Given the description of an element on the screen output the (x, y) to click on. 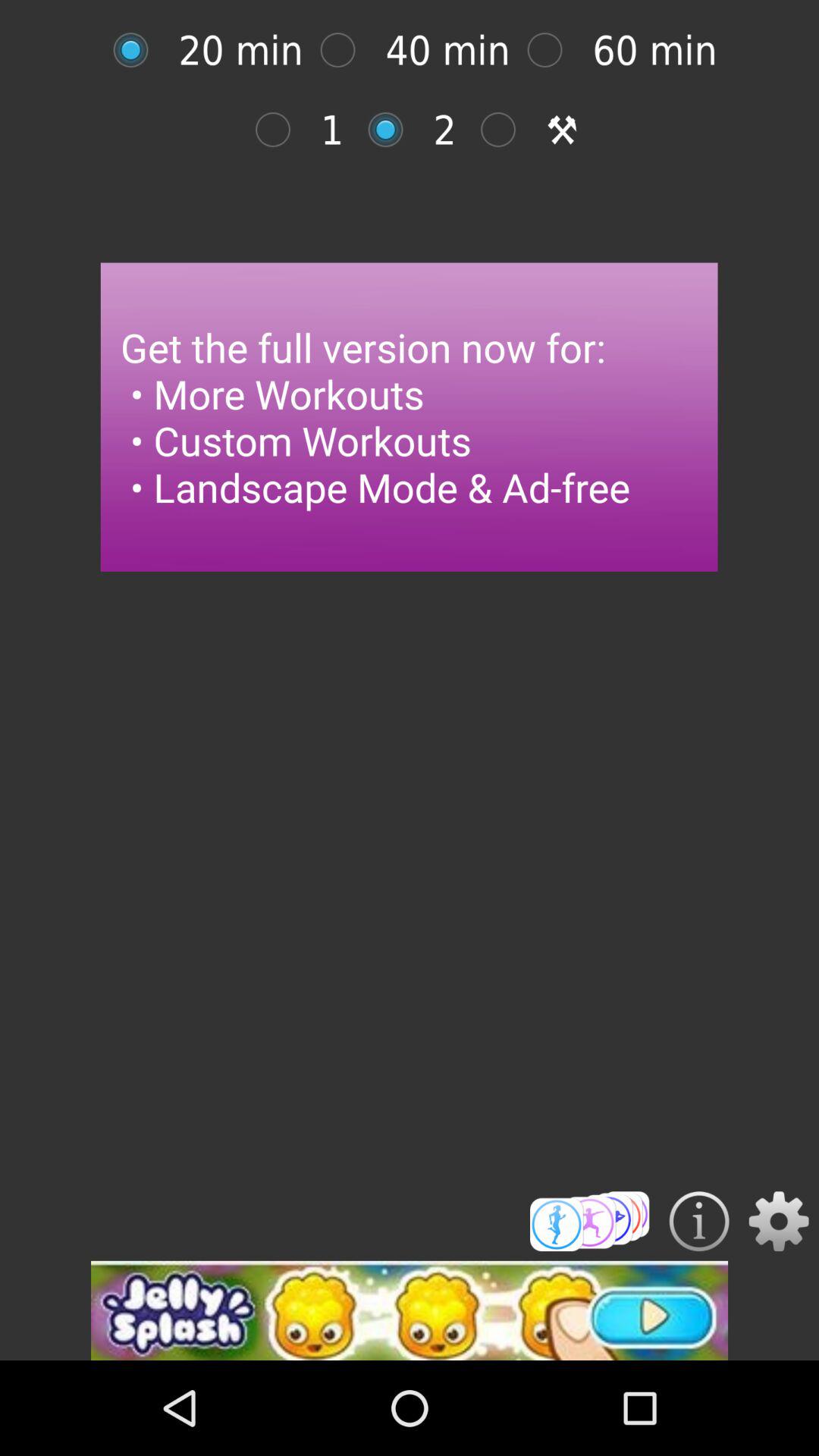
select 40 min workout option (345, 49)
